Given the description of an element on the screen output the (x, y) to click on. 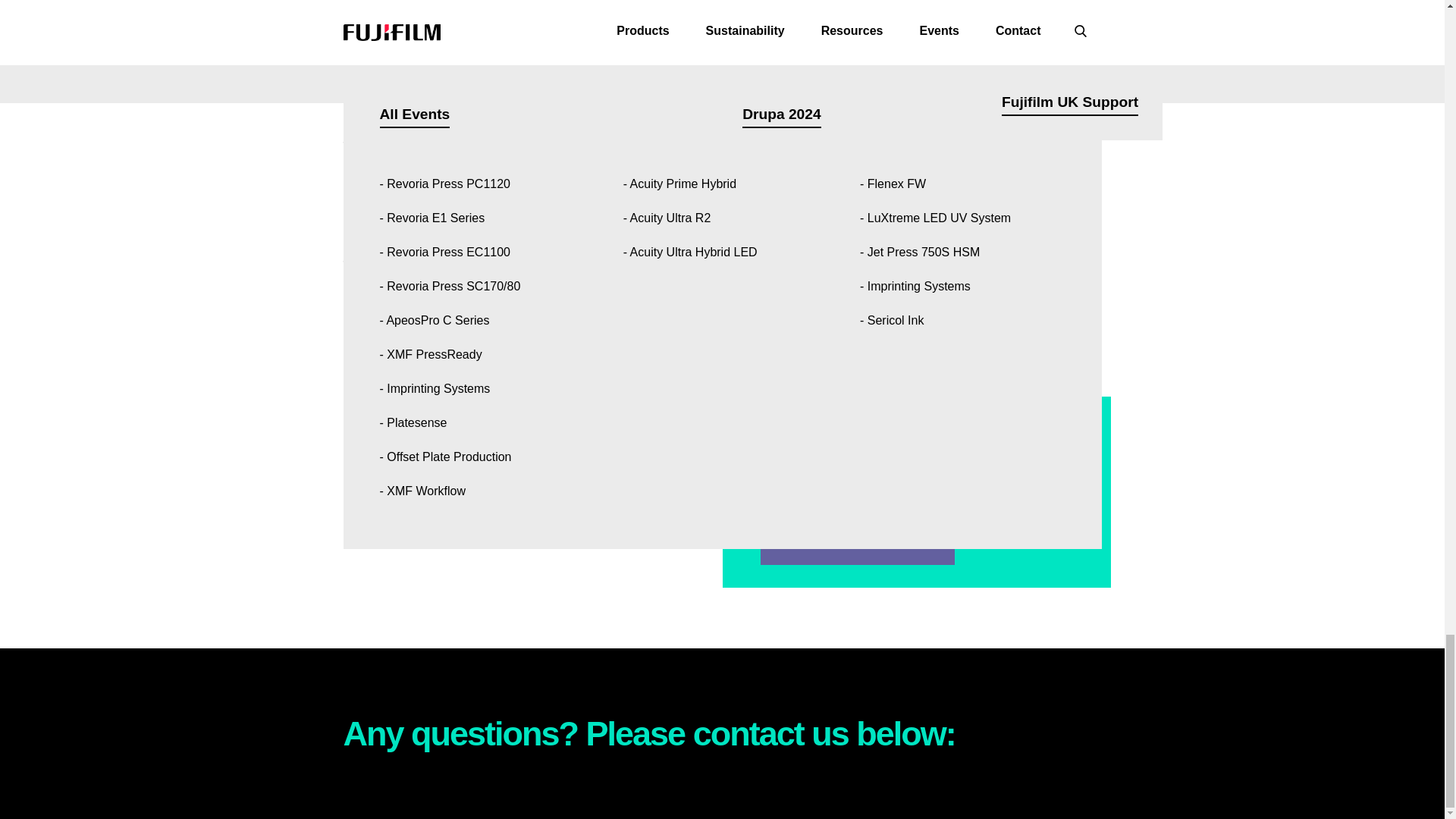
Download the brochure (856, 542)
